Given the description of an element on the screen output the (x, y) to click on. 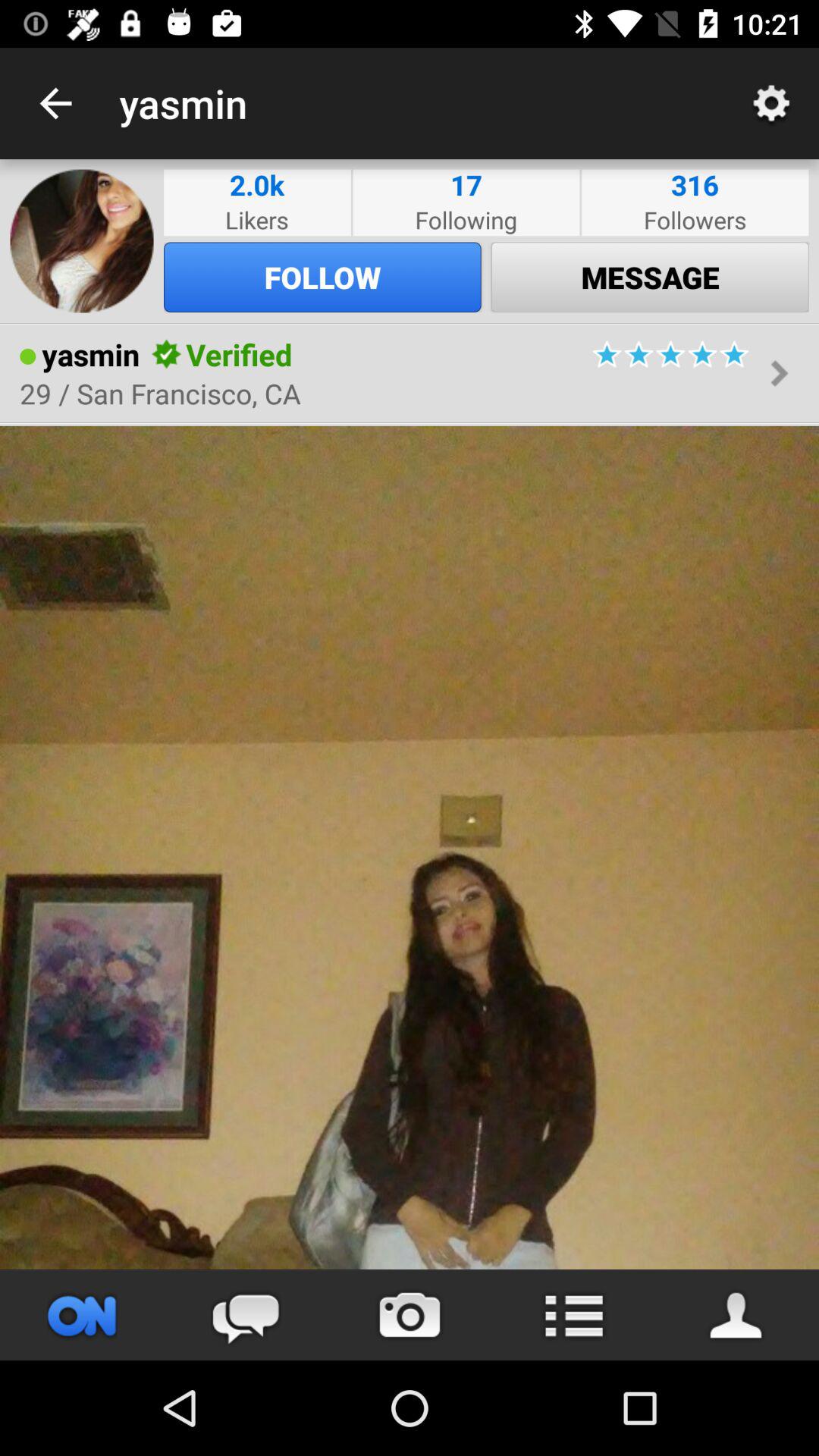
scroll to 2.0k icon (256, 184)
